Given the description of an element on the screen output the (x, y) to click on. 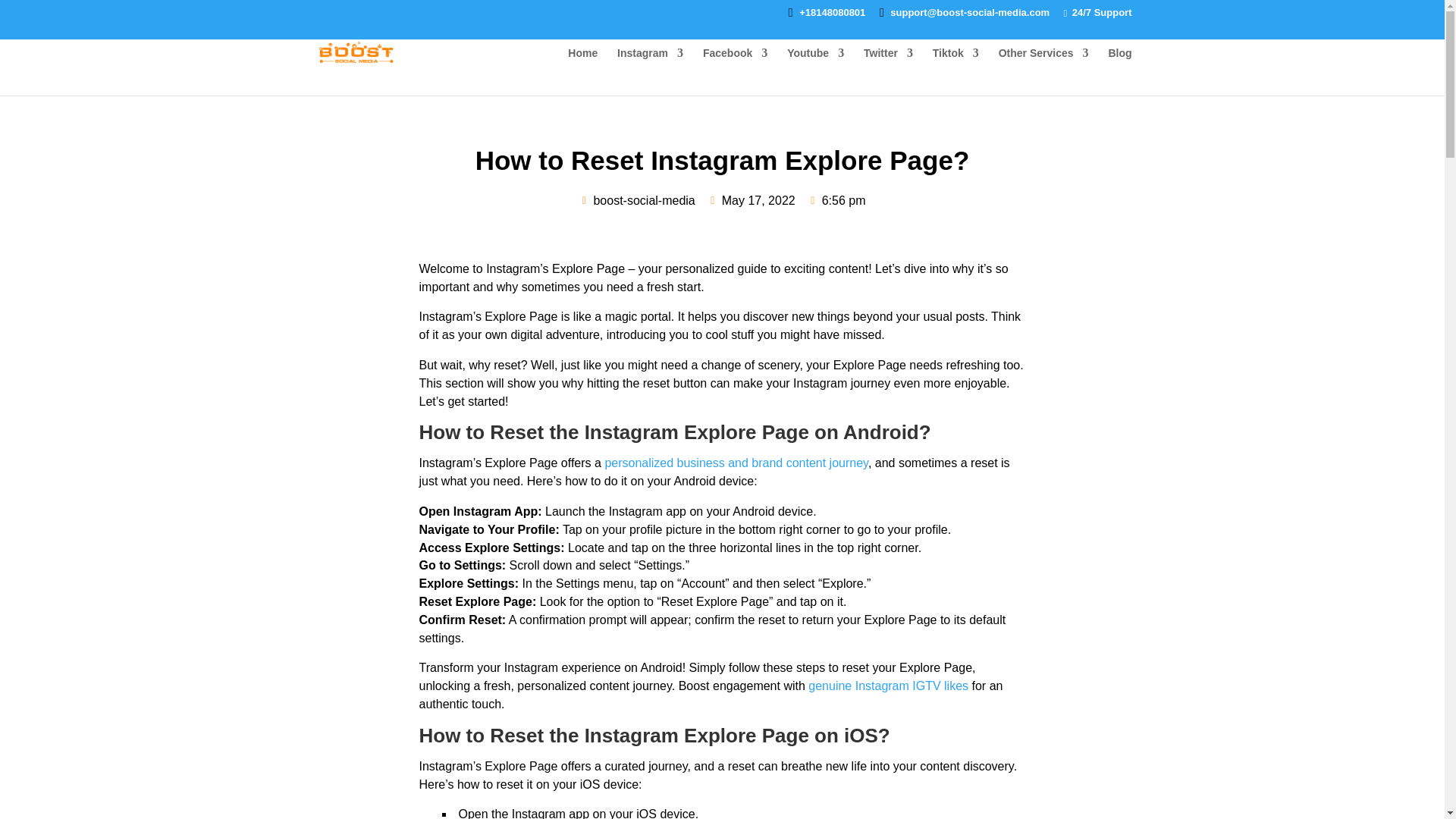
Youtube (815, 65)
Twitter (887, 65)
Facebook (735, 65)
Instagram (649, 65)
